Given the description of an element on the screen output the (x, y) to click on. 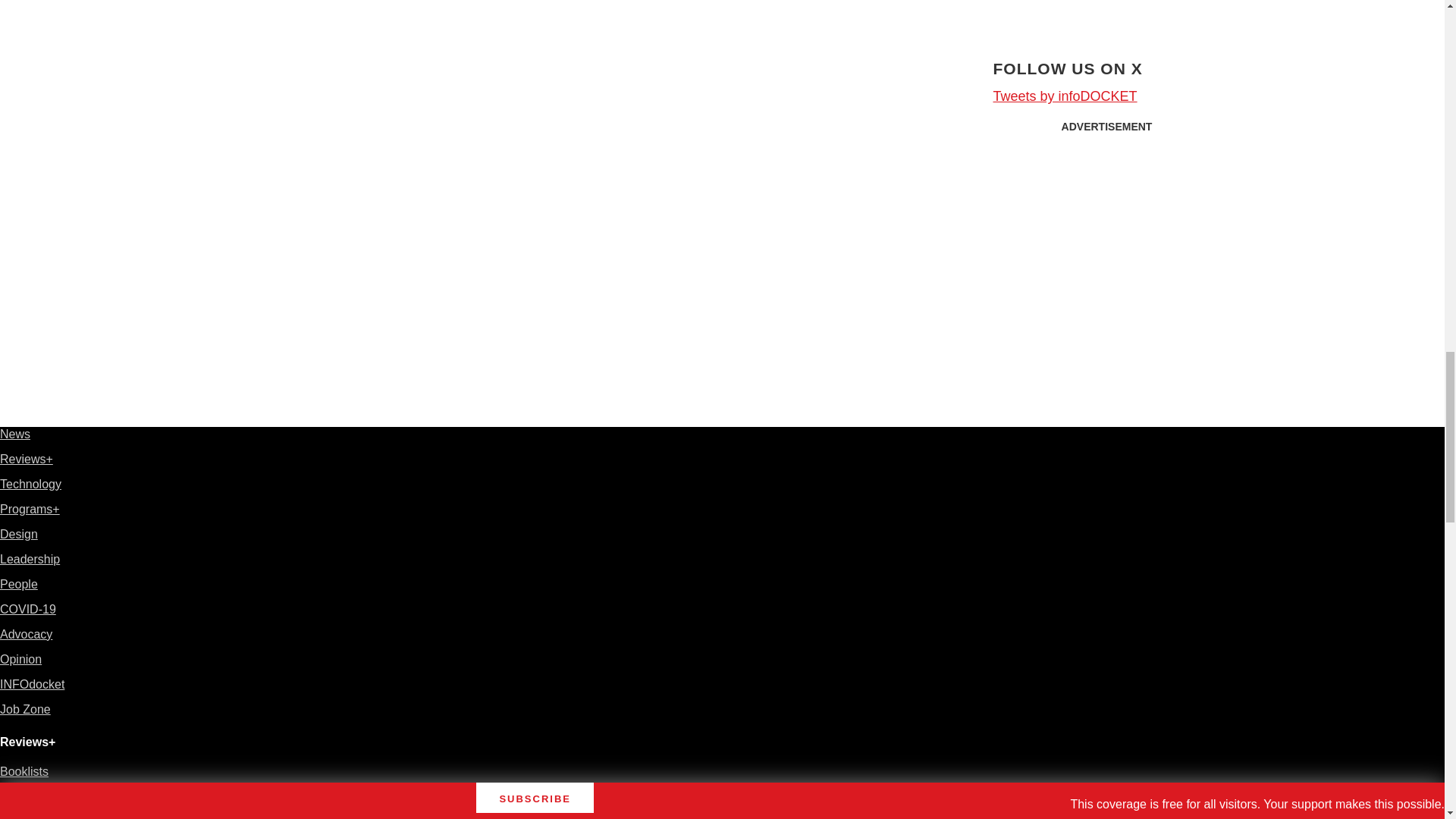
3rd party ad content (1106, 10)
3rd party ad content (1106, 235)
